Given the description of an element on the screen output the (x, y) to click on. 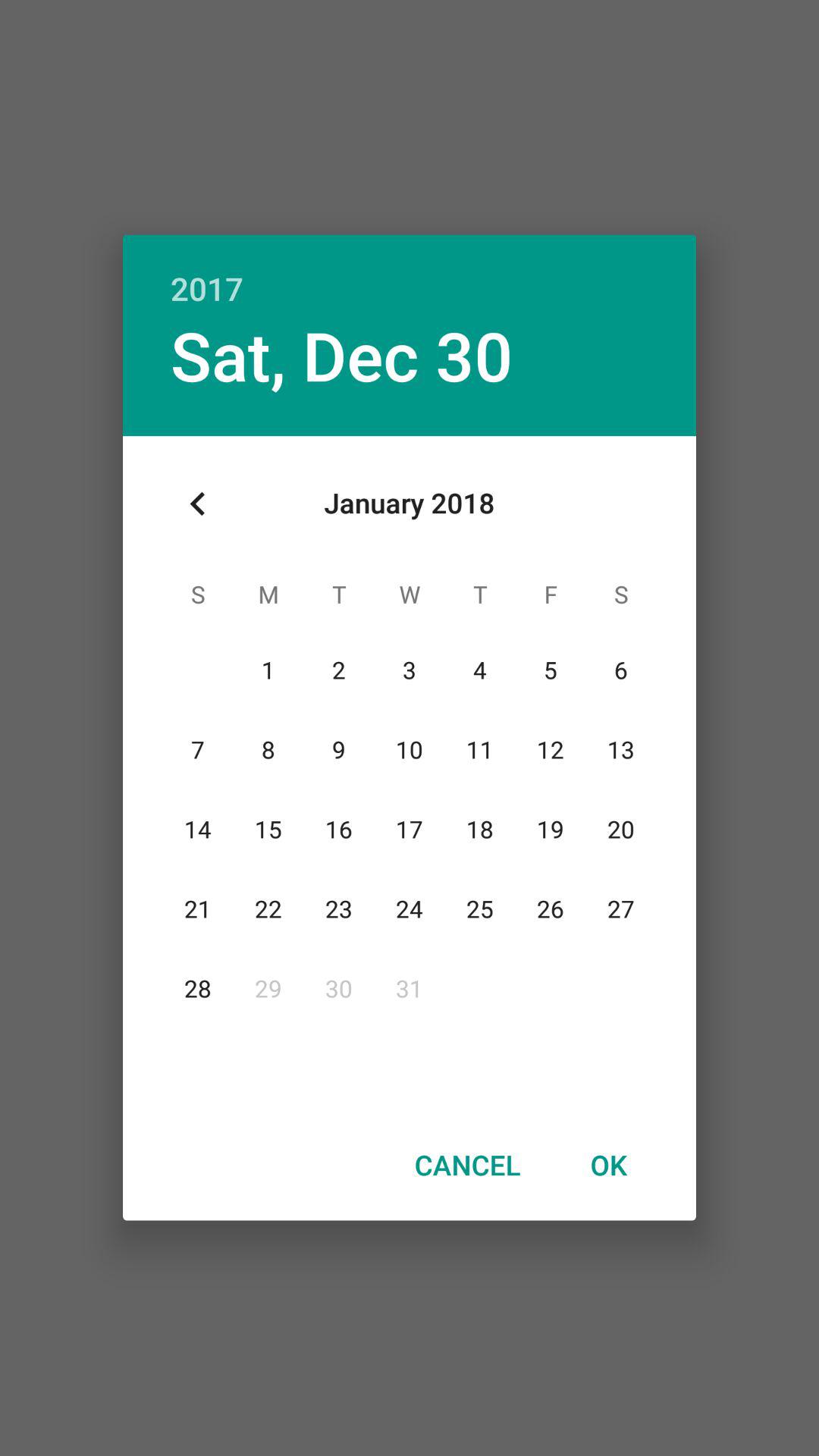
tap item on the left (197, 503)
